Given the description of an element on the screen output the (x, y) to click on. 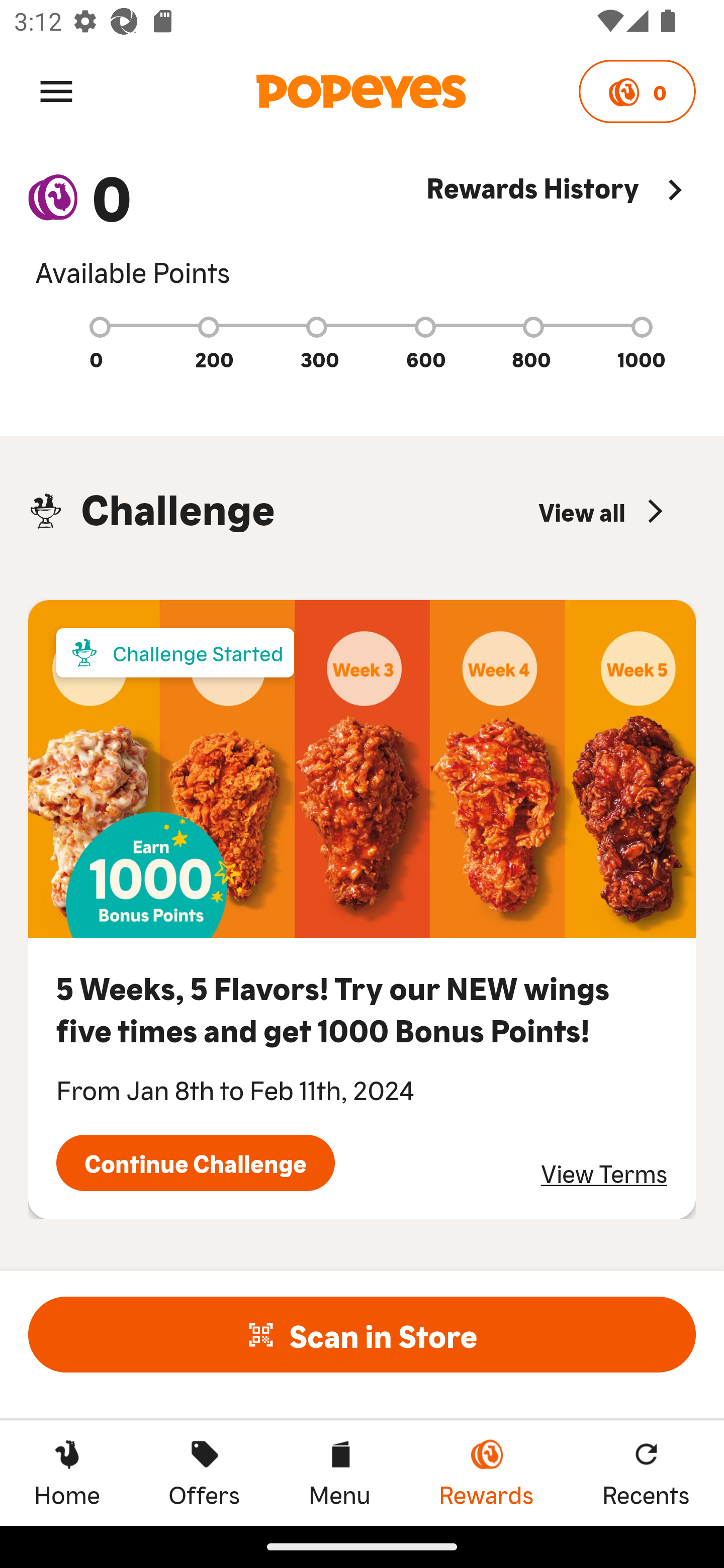
Menu  (56, 90)
0 Points 0 (636, 91)
Rewards History Rewards History  (560, 228)
View all (602, 511)
Continue Challenge (195, 1163)
View Terms (603, 1172)
Scan in Store  Scan in Store (361, 1334)
Home Home Home (66, 1472)
Offers Offers Offers (203, 1472)
Menu Menu Menu (339, 1472)
Recents Recents Recents (646, 1472)
